Given the description of an element on the screen output the (x, y) to click on. 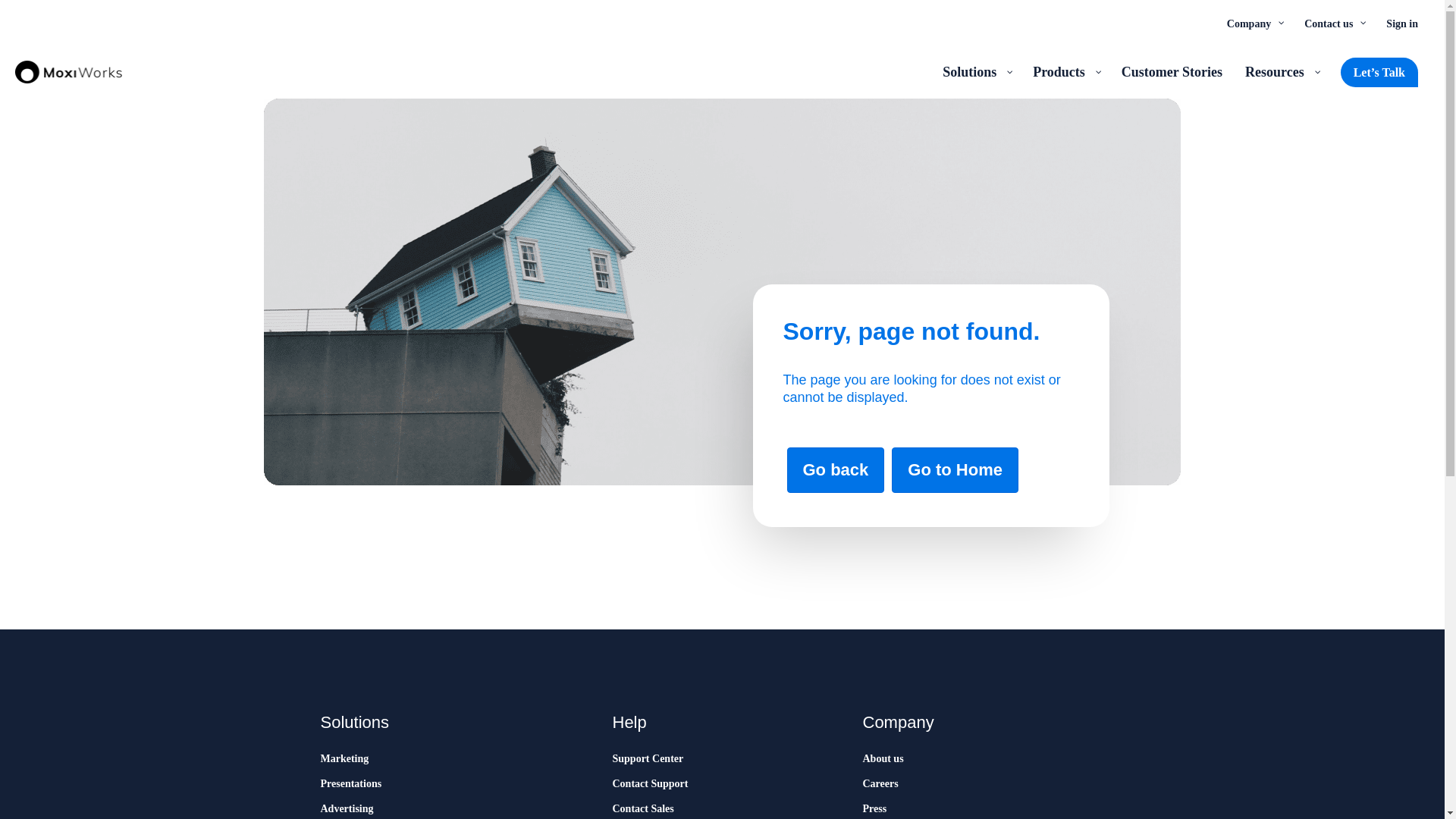
Contact us (1333, 22)
Company (1253, 22)
Solutions (976, 72)
Products (1065, 72)
Sign in (1401, 22)
